Given the description of an element on the screen output the (x, y) to click on. 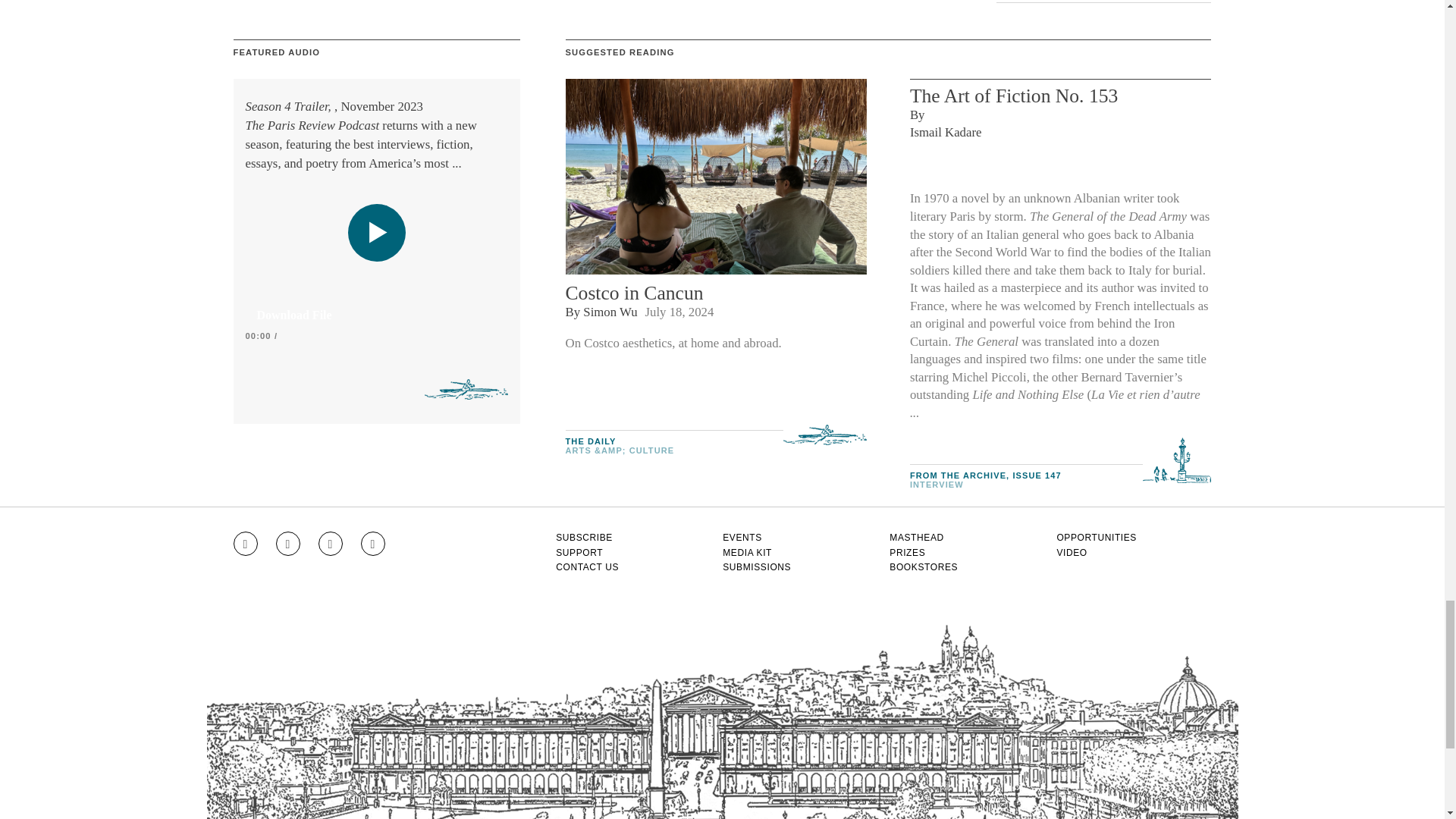
Go to Twitter feed (330, 543)
Go to Facebook page (287, 543)
Go to RSS feed (373, 543)
Go to Instagram feed (244, 543)
